Given the description of an element on the screen output the (x, y) to click on. 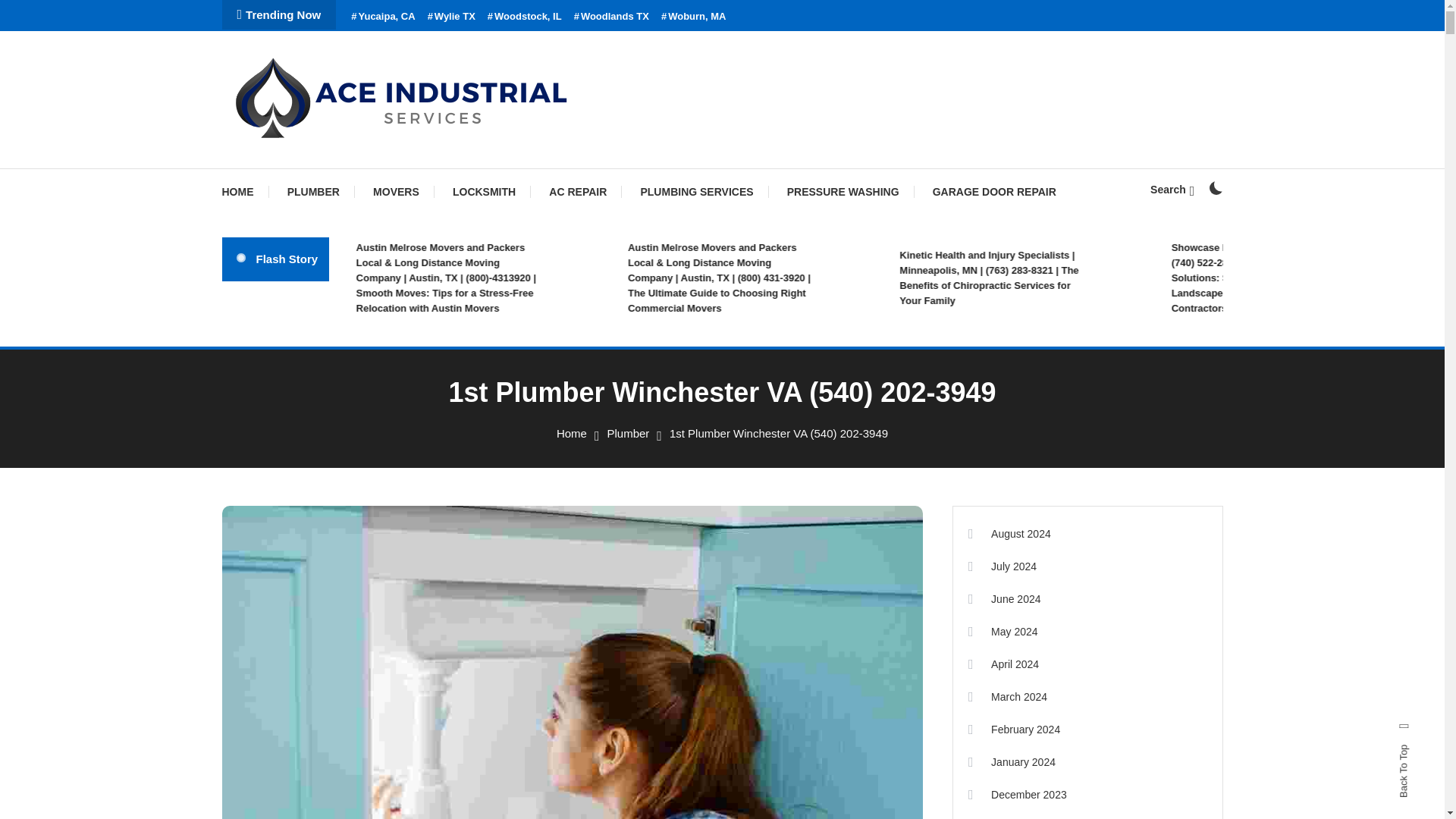
Home (571, 432)
Woburn, MA (693, 16)
Yucaipa, CA (382, 16)
Woodlands TX (611, 16)
Plumber (628, 432)
Search (768, 434)
Wylie TX (452, 16)
on (1215, 187)
Woodstock, IL (524, 16)
Search (1171, 189)
